Given the description of an element on the screen output the (x, y) to click on. 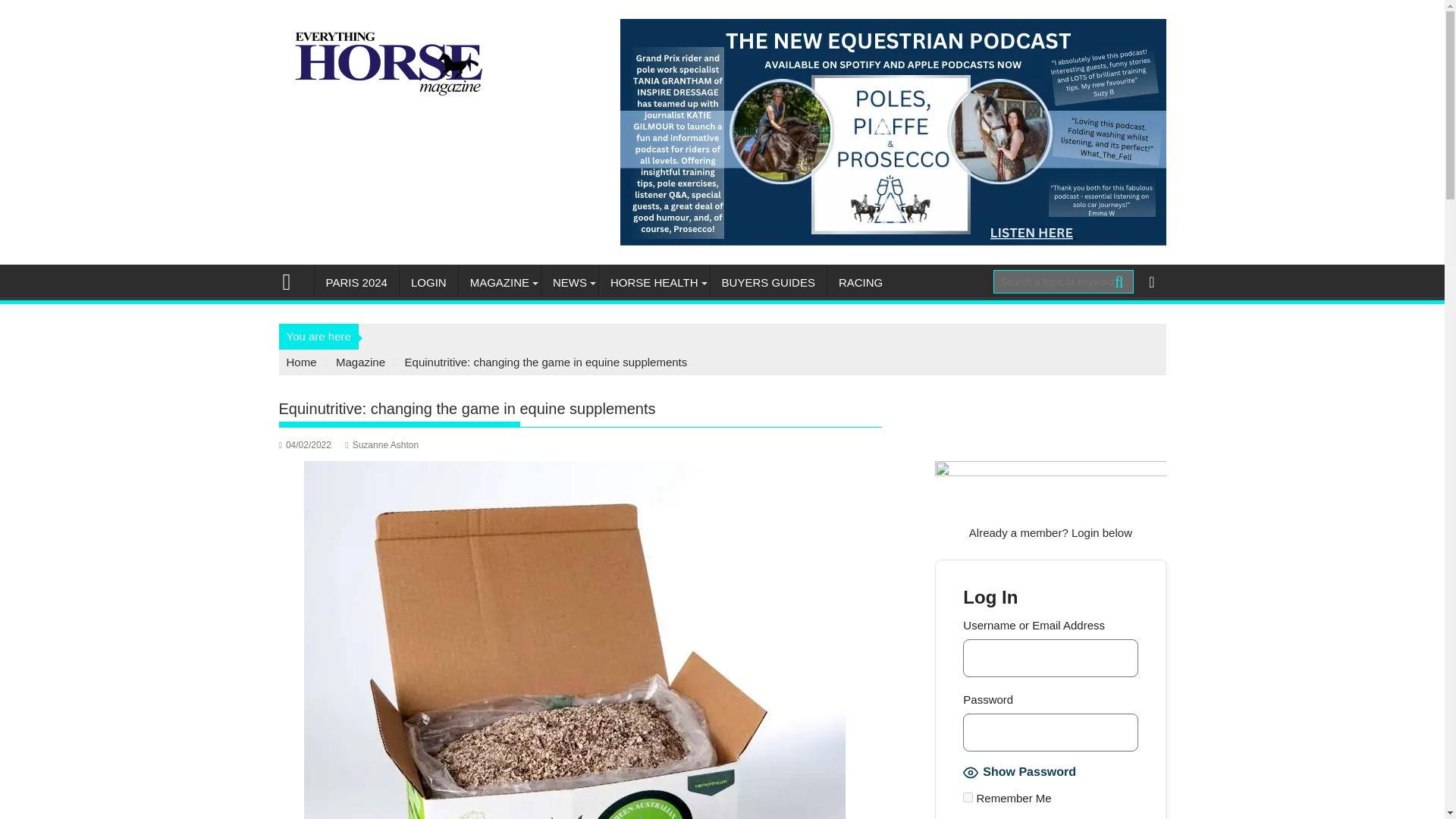
Everything Horse Magazine (293, 280)
Home (301, 361)
PARIS 2024 (355, 282)
HORSE HEALTH (654, 282)
MAGAZINE (499, 282)
BUYERS GUIDES (768, 282)
NEWS (569, 282)
Magazine (360, 361)
forever (967, 797)
RACING (860, 282)
LOGIN (428, 282)
